Given the description of an element on the screen output the (x, y) to click on. 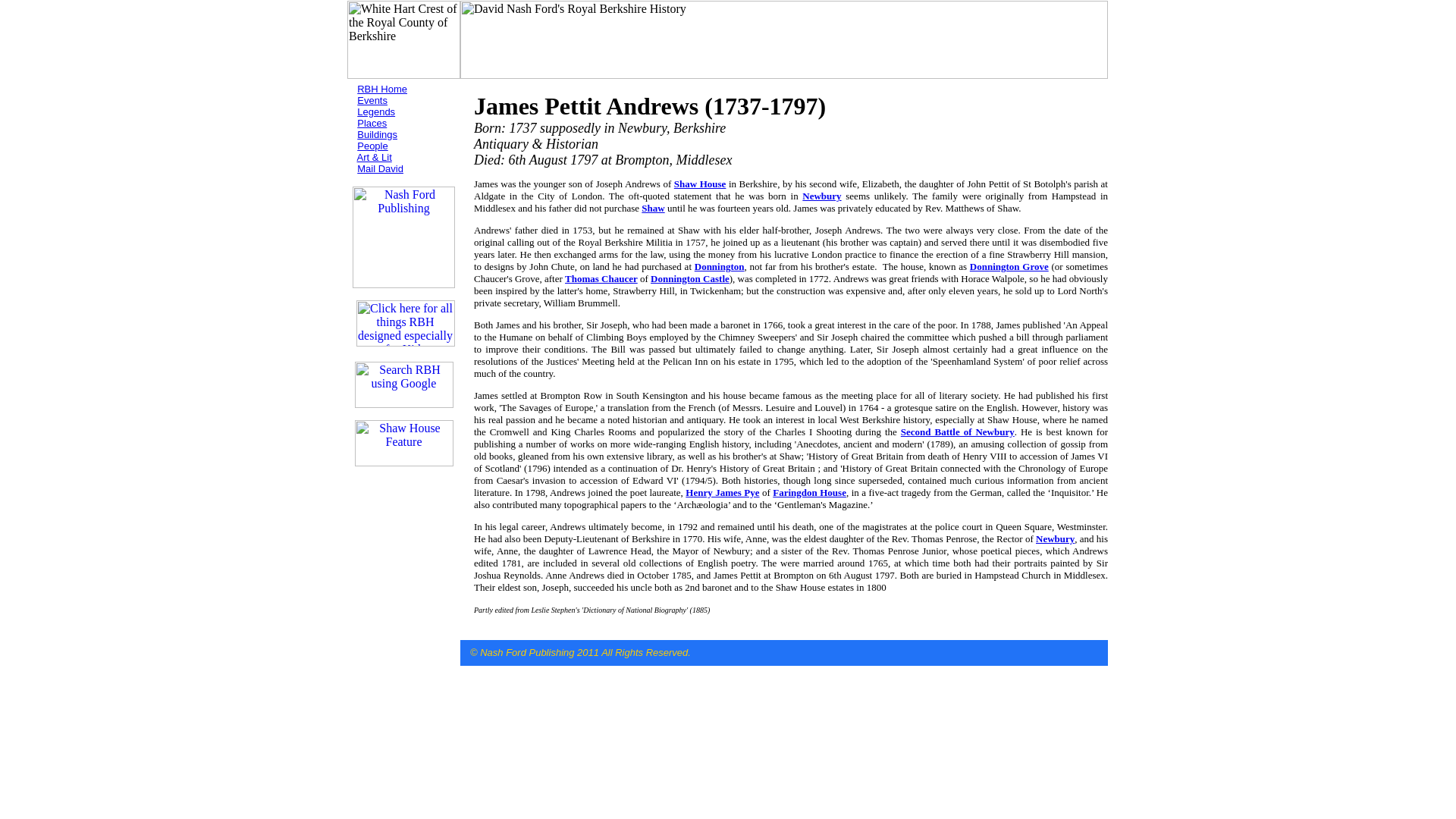
Places (371, 122)
Buildings (376, 134)
Shaw (652, 207)
Legends (375, 111)
Second Battle of Newbury (957, 431)
Newbury (821, 195)
Faringdon House (809, 491)
RBH Home (381, 89)
Donnington Grove (1008, 266)
Donnington (719, 266)
Shaw House (700, 183)
People (371, 145)
Donnington Castle (689, 278)
Thomas Chaucer (600, 278)
Mail David (379, 168)
